Given the description of an element on the screen output the (x, y) to click on. 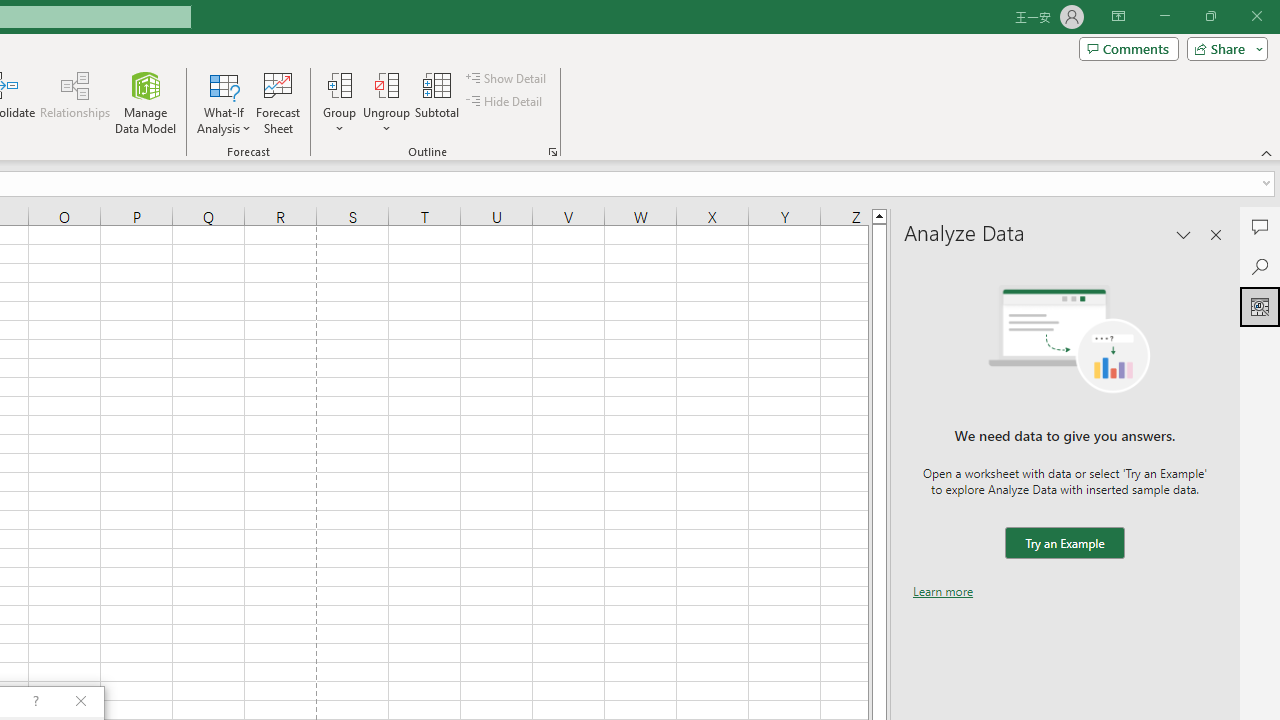
Close (1256, 16)
Relationships (75, 102)
Hide Detail (505, 101)
What-If Analysis (223, 102)
Line up (879, 215)
More Options (386, 121)
Group and Outline Settings (552, 151)
Close pane (1215, 234)
Minimize (1164, 16)
Search (1260, 266)
Group... (339, 84)
Ungroup... (386, 102)
Task Pane Options (1183, 234)
Restore Down (1210, 16)
